Given the description of an element on the screen output the (x, y) to click on. 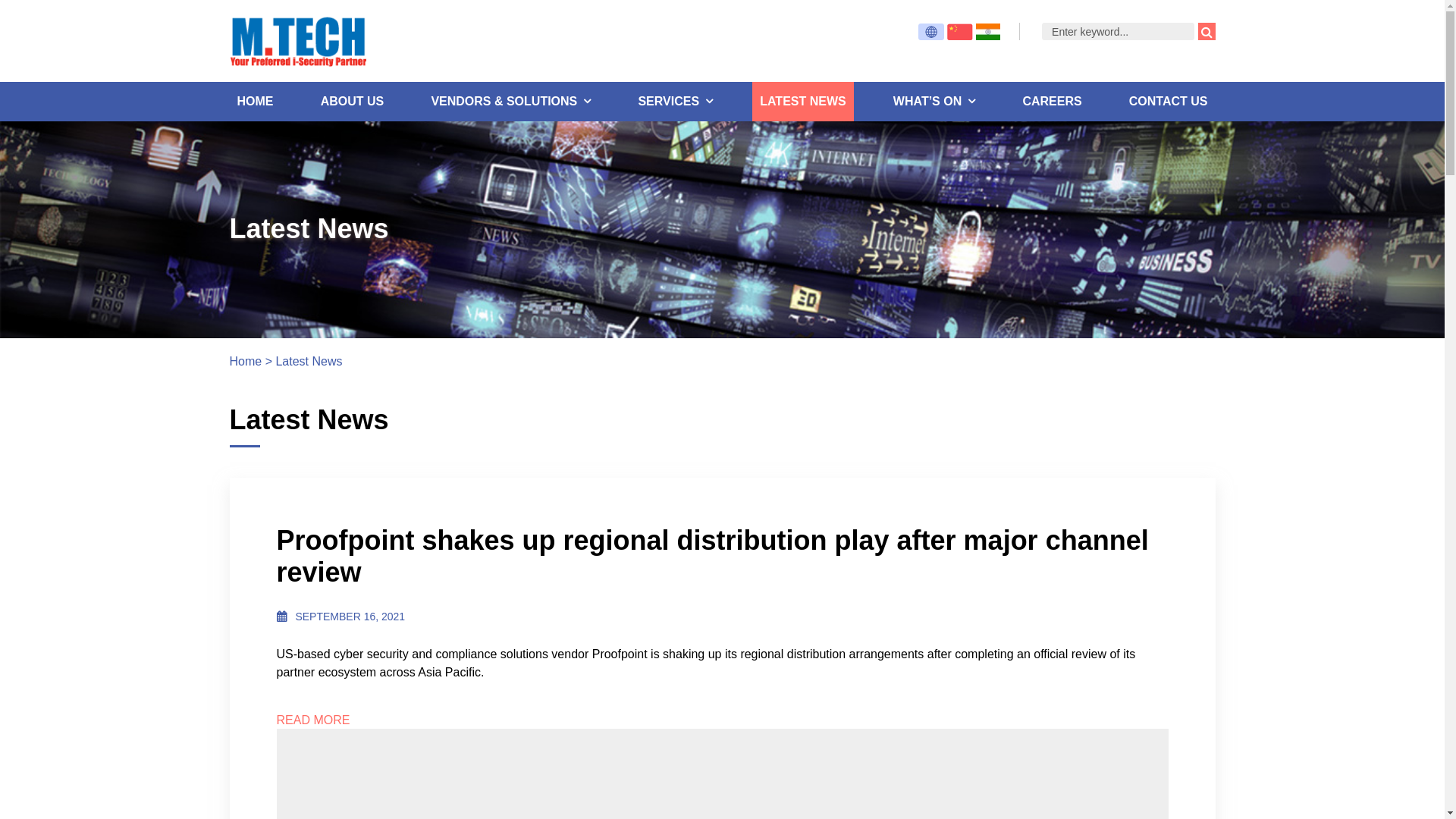
SERVICES Element type: text (675, 101)
READ MORE Element type: text (721, 720)
CAREERS Element type: text (1051, 101)
Home Element type: text (245, 360)
HOME Element type: text (254, 101)
LATEST NEWS Element type: text (802, 101)
VENDORS & SOLUTIONS Element type: text (510, 101)
ABOUT US Element type: text (352, 101)
CONTACT US Element type: text (1168, 101)
